Given the description of an element on the screen output the (x, y) to click on. 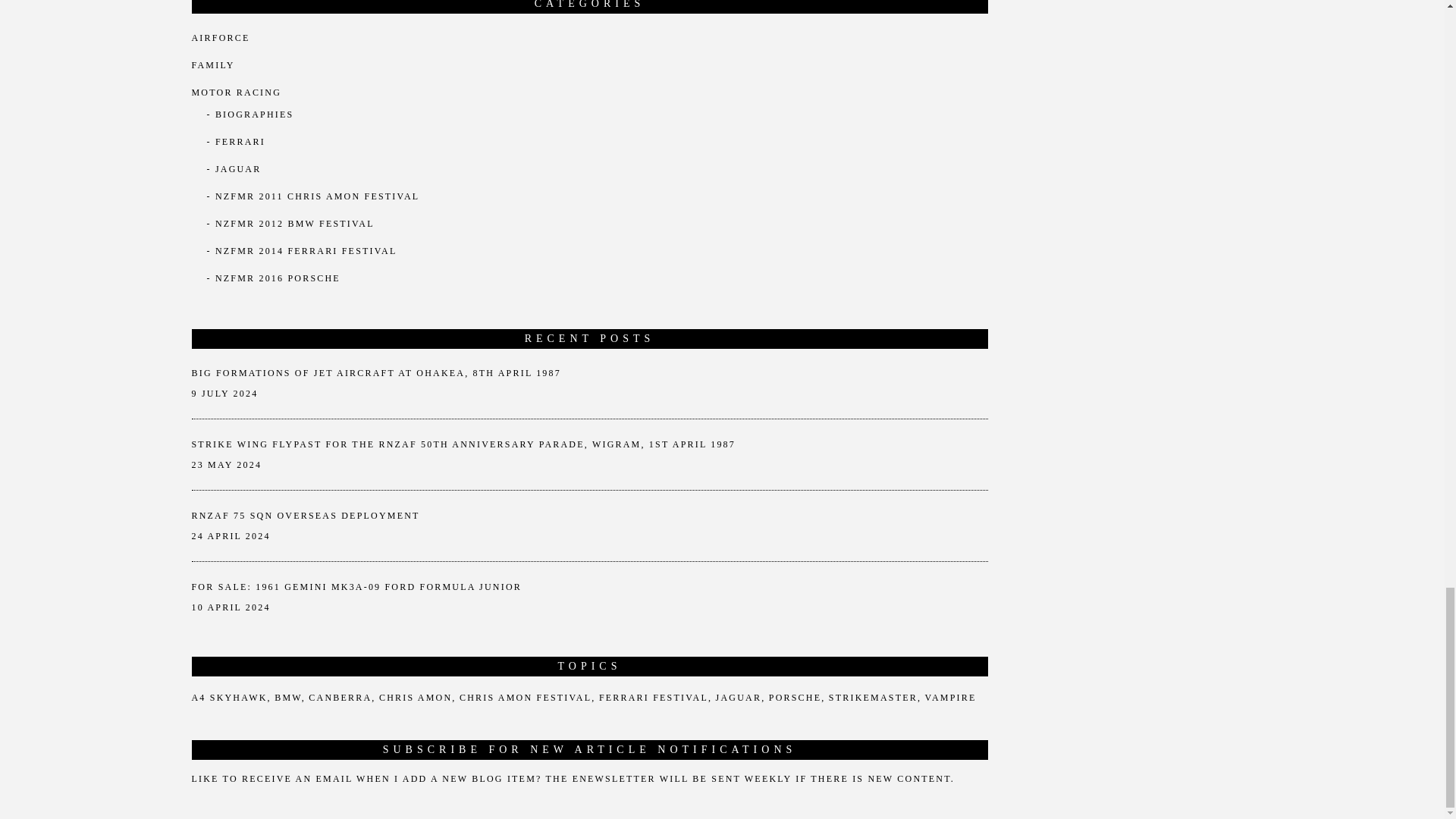
JAGUAR (238, 168)
AIRFORCE (219, 37)
NZFMR 2014 FERRARI FESTIVAL (306, 250)
NZFMR 2011 CHRIS AMON FESTIVAL (317, 195)
BIG FORMATIONS OF JET AIRCRAFT AT OHAKEA, 8TH APRIL 1987 (375, 372)
MOTOR RACING (235, 91)
RNZAF 75 SQN OVERSEAS DEPLOYMENT (304, 515)
FOR SALE: 1961 GEMINI MK3A-09 FORD FORMULA JUNIOR (355, 586)
FAMILY (212, 64)
A4 SKYHAWK (230, 697)
FERRARI (239, 141)
NZFMR 2016 PORSCHE (277, 277)
NZFMR 2012 BMW FESTIVAL (294, 223)
BIOGRAPHIES (254, 113)
